Given the description of an element on the screen output the (x, y) to click on. 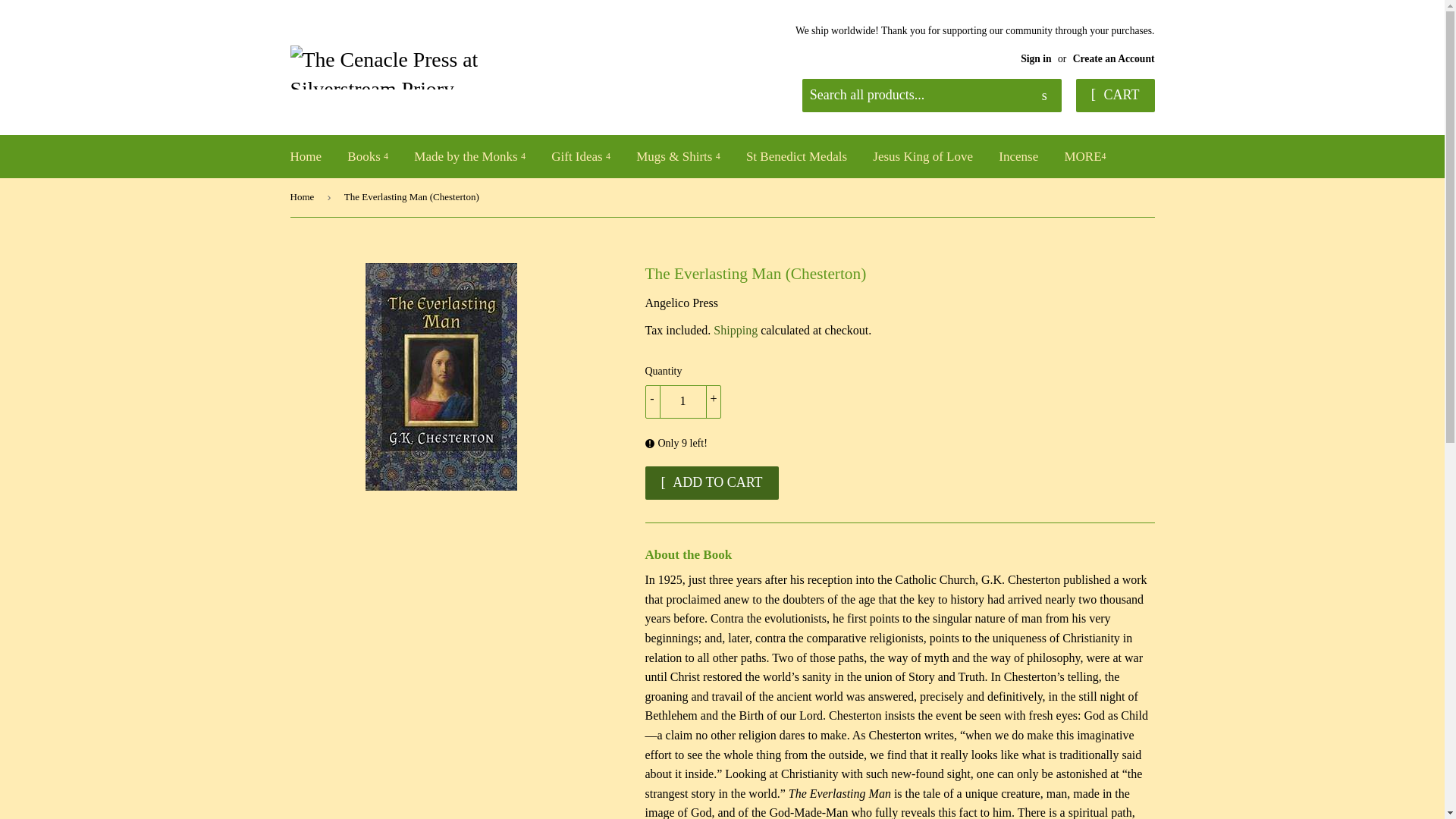
Create an Account (1113, 58)
Back to the frontpage (303, 197)
Sign in (1035, 58)
CART (1114, 95)
1 (682, 401)
Search (1044, 96)
